Given the description of an element on the screen output the (x, y) to click on. 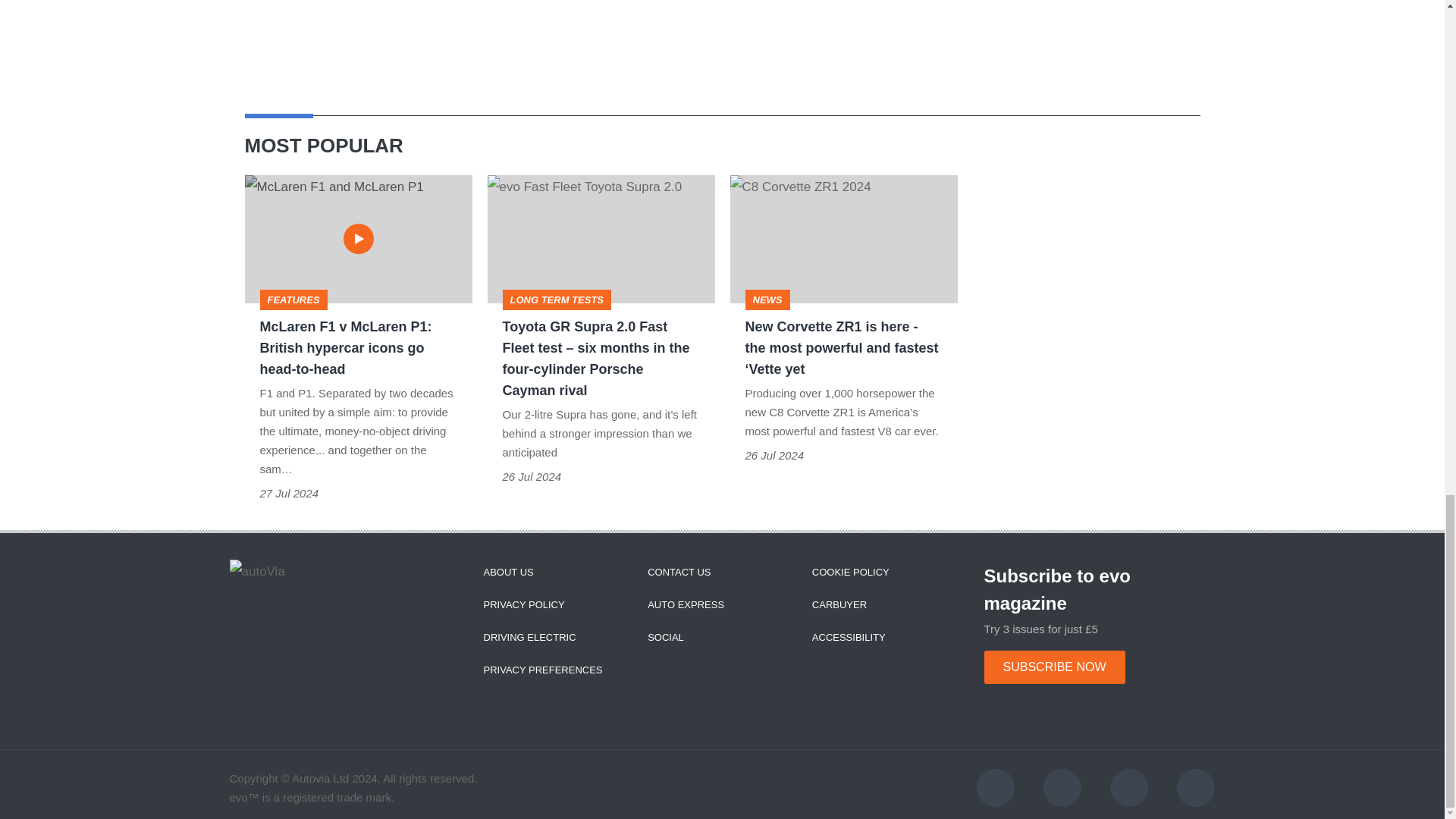
Subscribe now (1054, 666)
